Given the description of an element on the screen output the (x, y) to click on. 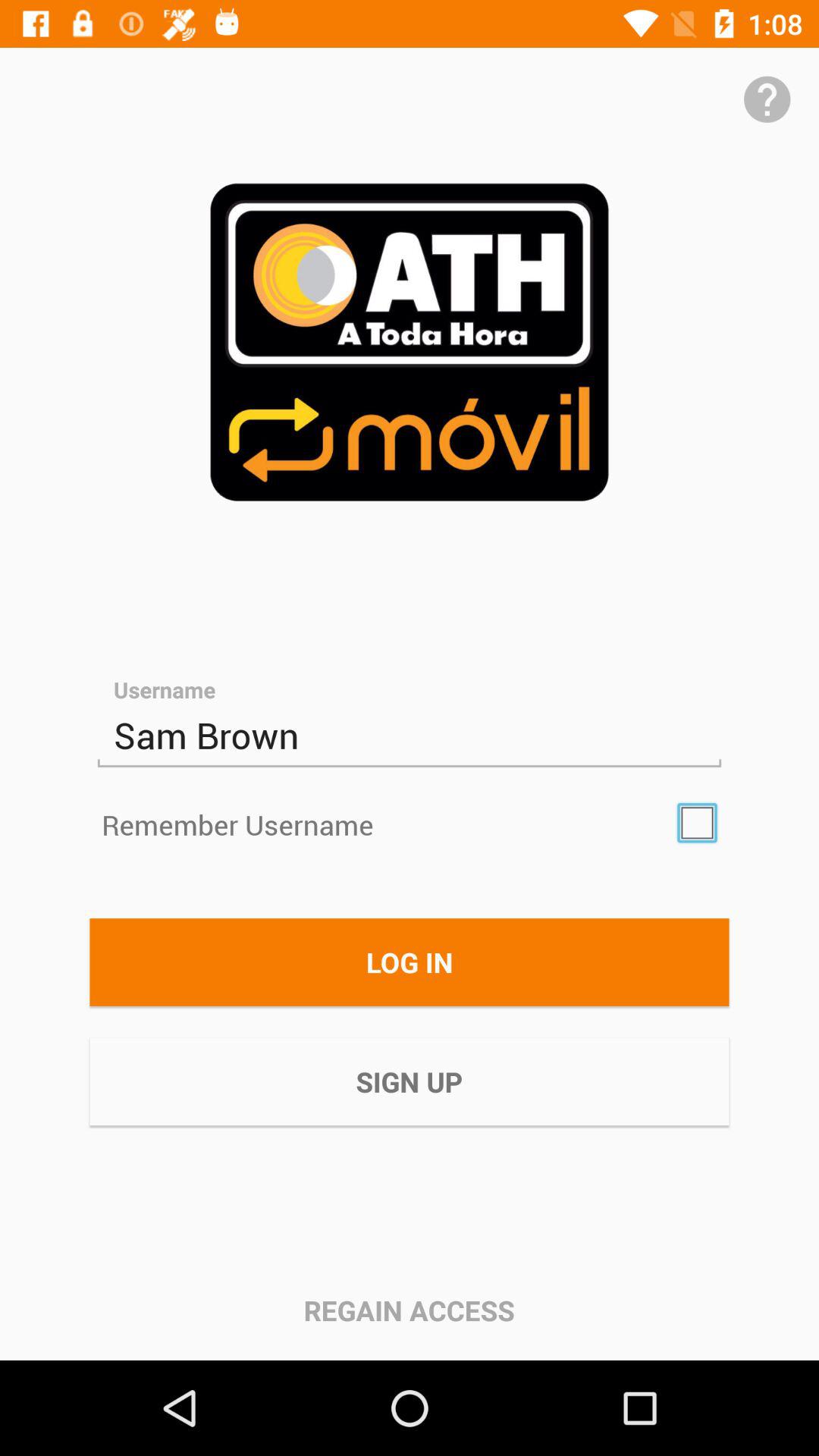
open icon at the top right corner (767, 99)
